Given the description of an element on the screen output the (x, y) to click on. 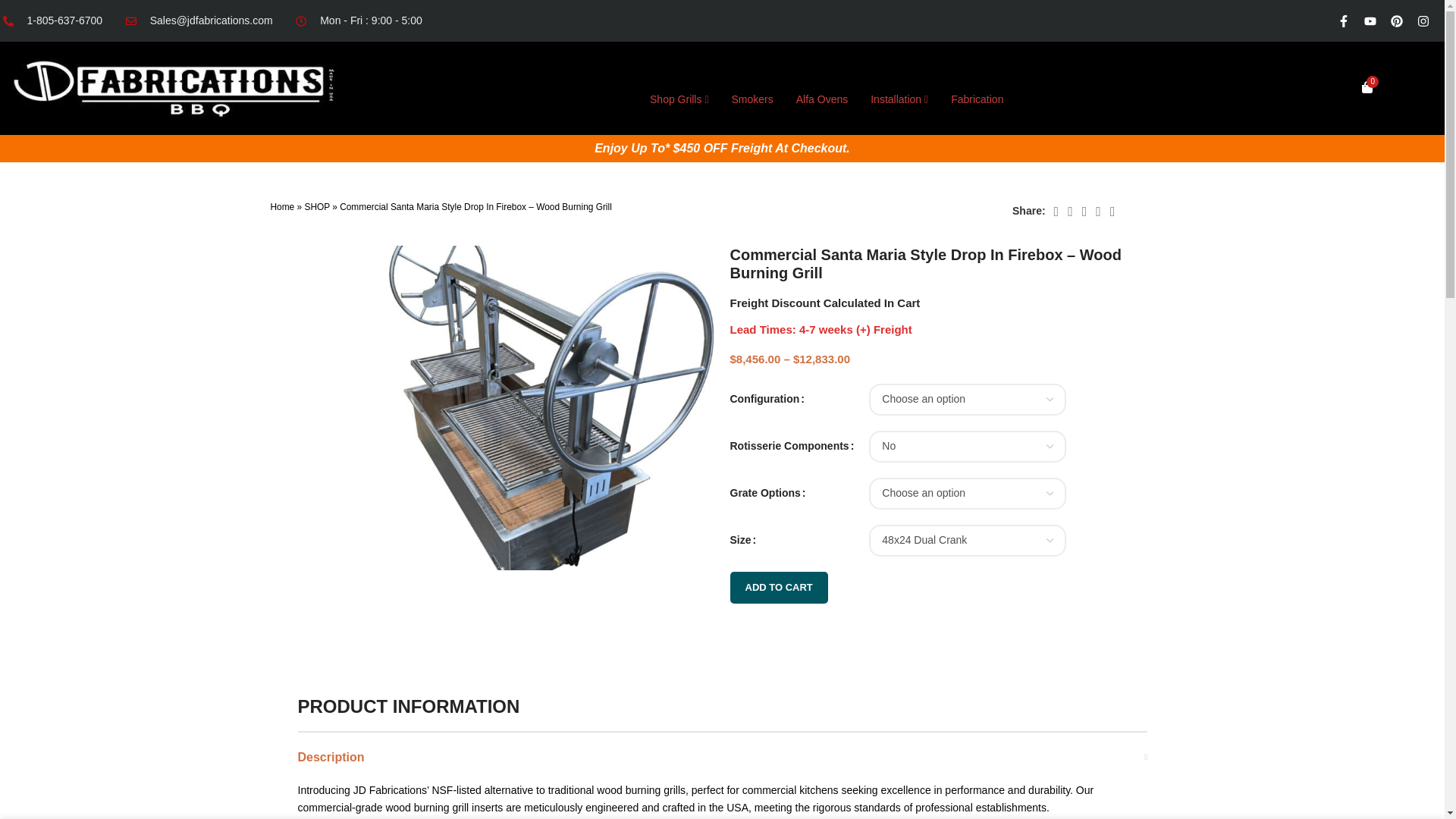
Home (281, 206)
Fabrication (976, 99)
SHOP (316, 206)
Alfa Ovens (822, 99)
0 (1366, 88)
Dual-Crank-Stainless-Santa-Maria-Grill-Drop-In-Firebox (550, 407)
Mon - Fri : 9:00 - 5:00 (358, 20)
Smokers (751, 99)
1-805-637-6700 (50, 20)
Installation (899, 99)
